Given the description of an element on the screen output the (x, y) to click on. 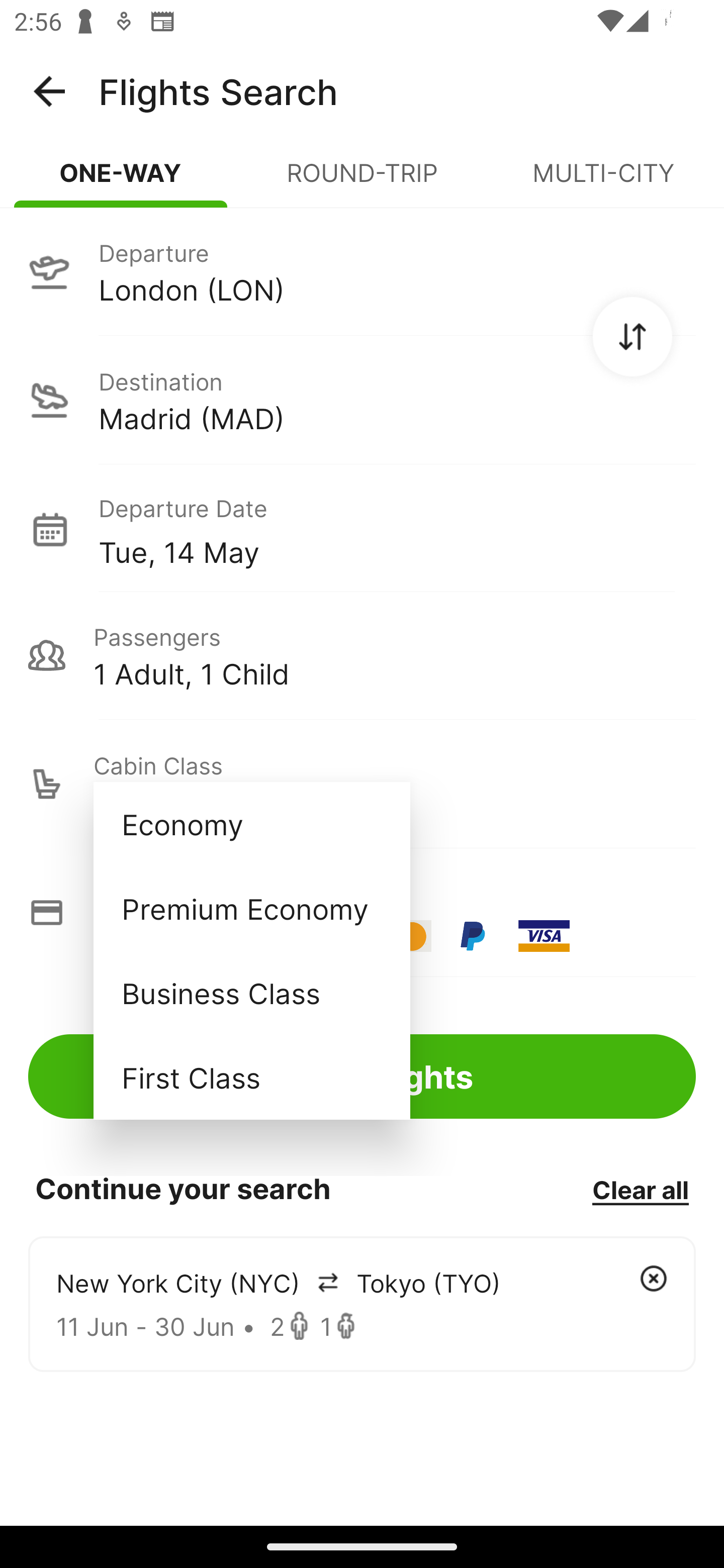
Economy (251, 824)
Premium Economy (251, 908)
Business Class (251, 992)
First Class (251, 1076)
